Given the description of an element on the screen output the (x, y) to click on. 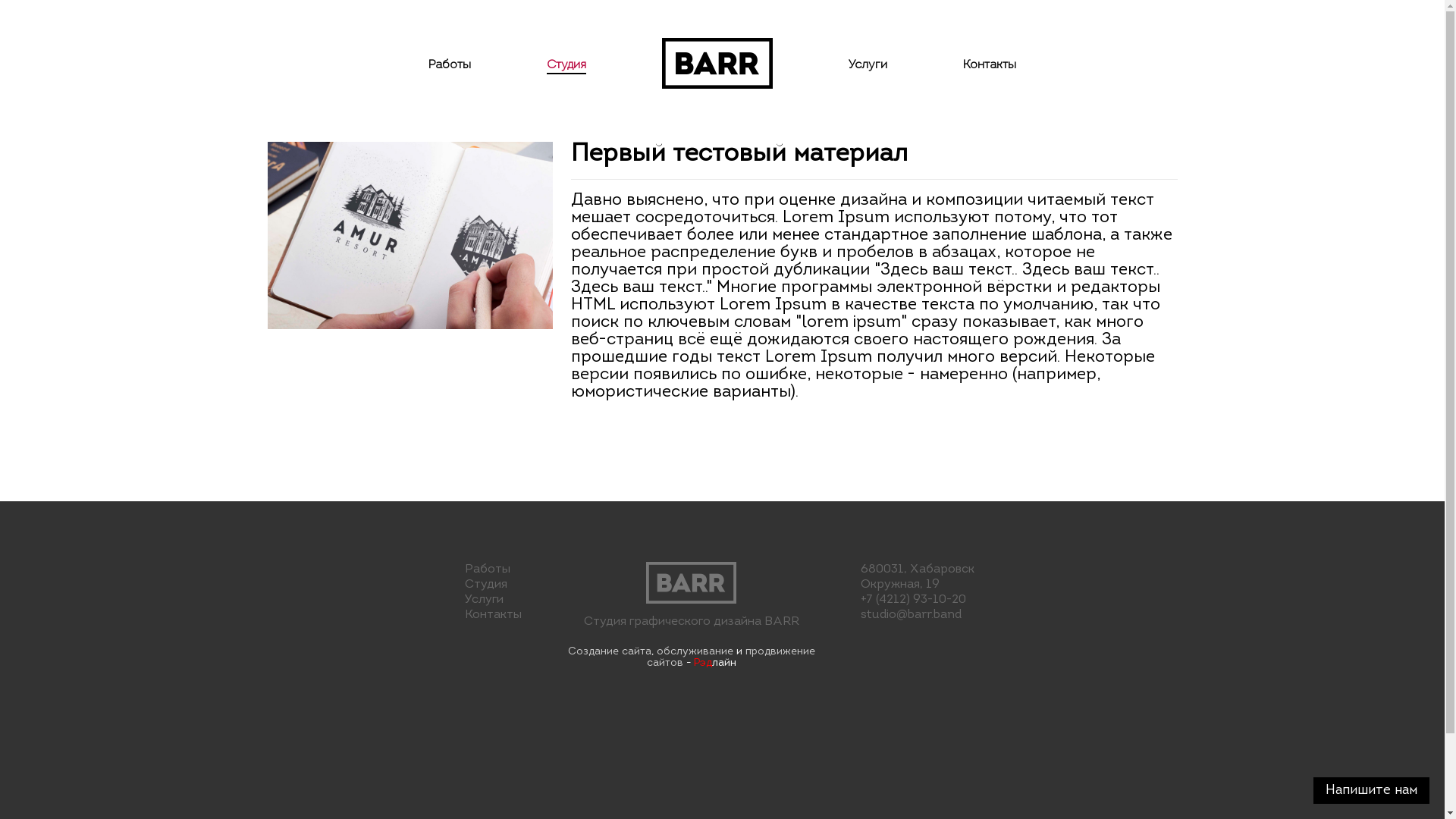
studio@barr.band Element type: text (910, 614)
+7 (4212) 93-10-20 Element type: text (913, 599)
